Given the description of an element on the screen output the (x, y) to click on. 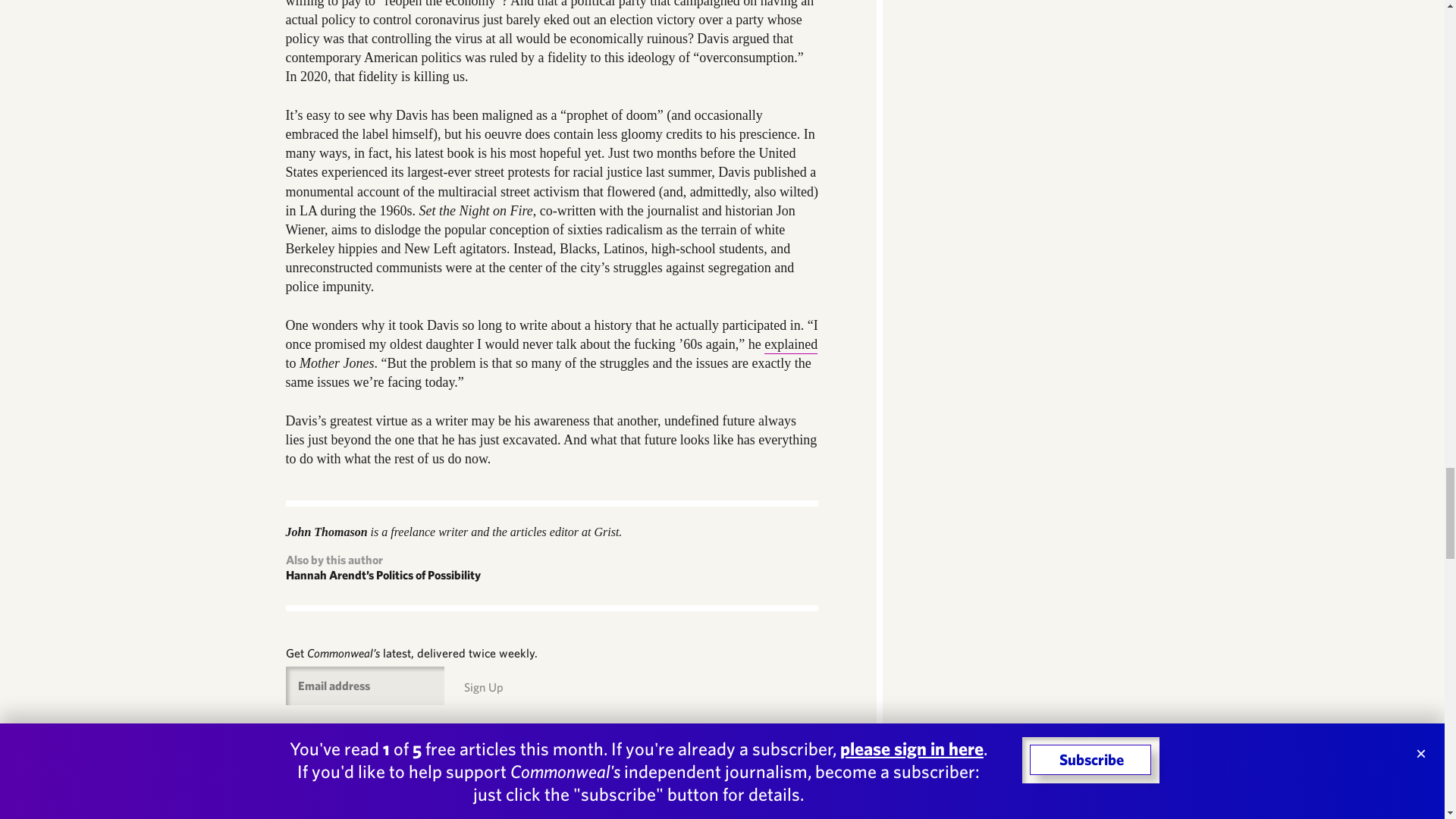
Sign Up (484, 687)
